Given the description of an element on the screen output the (x, y) to click on. 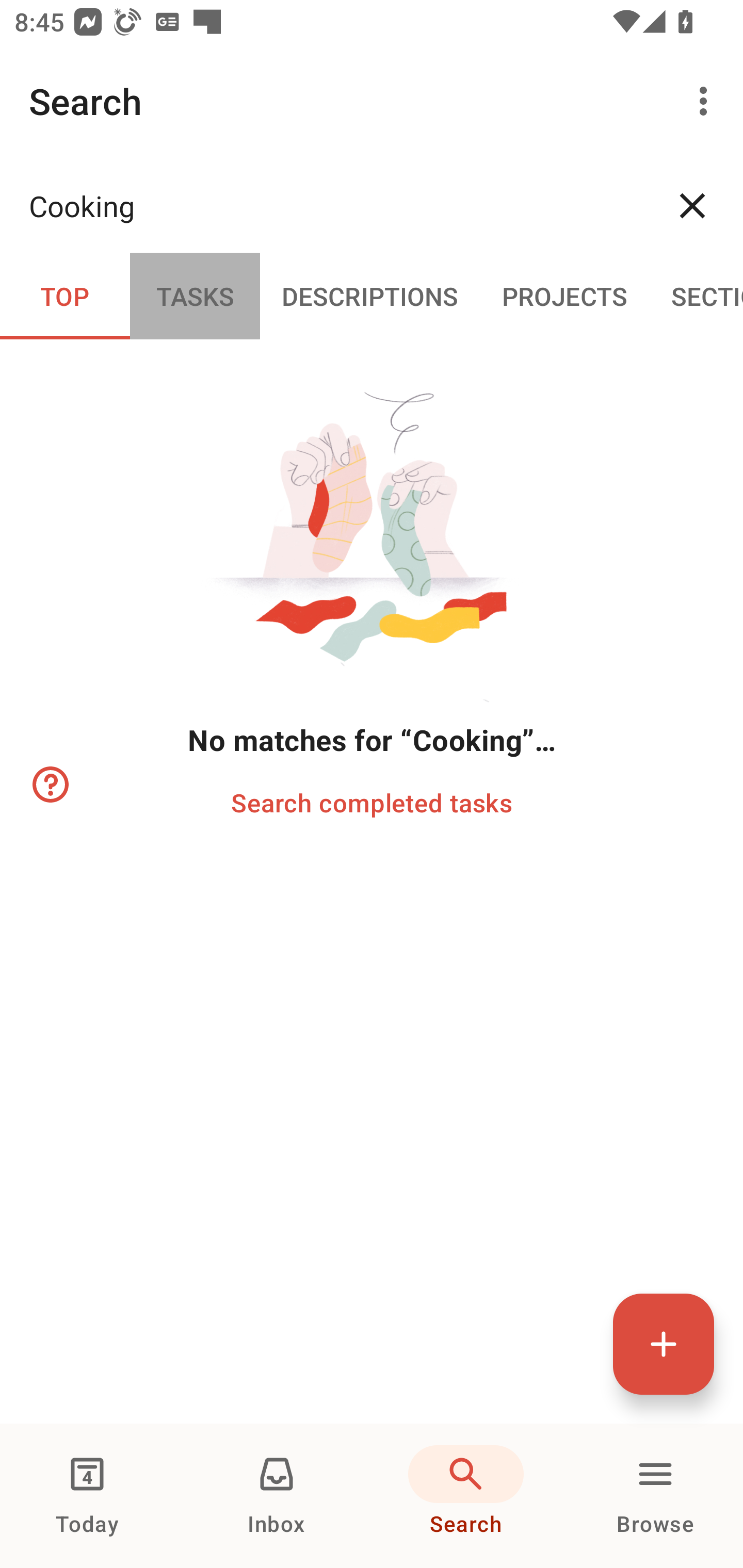
Search More options (371, 100)
More options (706, 101)
Cooking (335, 205)
Clear (692, 205)
Tasks TASKS (195, 295)
Descriptions DESCRIPTIONS (370, 295)
Projects PROJECTS (564, 295)
Learn how to refine your search (48, 784)
Search completed tasks (371, 801)
Quick add (663, 1343)
Today (87, 1495)
Inbox (276, 1495)
Browse (655, 1495)
